Given the description of an element on the screen output the (x, y) to click on. 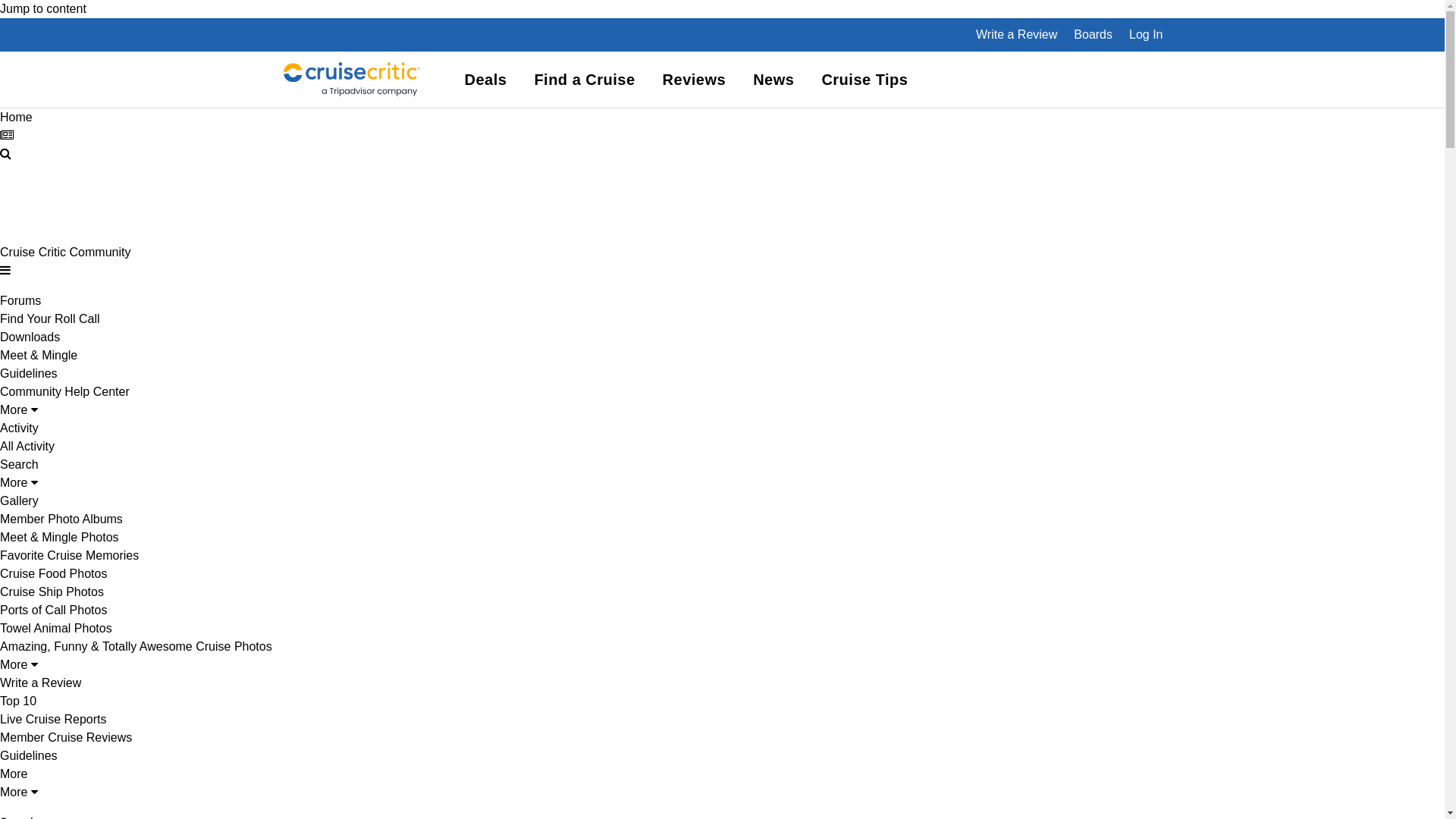
Downloads Element type: text (29, 336)
Meet & Mingle Photos Element type: text (59, 536)
Ports of Call Photos Element type: text (53, 609)
Amazing, Funny & Totally Awesome Cruise Photos Element type: text (136, 646)
Activity Element type: text (19, 427)
More Element type: text (13, 773)
Guidelines Element type: text (28, 755)
Guidelines Element type: text (28, 373)
Reviews Element type: text (694, 79)
Cruise Ship Photos Element type: text (51, 591)
Search Element type: text (19, 464)
More Element type: text (18, 664)
Member Cruise Reviews Element type: text (65, 737)
Top 10 Element type: text (18, 700)
Cruise Food Photos Element type: text (53, 573)
Deals Element type: text (485, 79)
More Element type: text (18, 482)
Jump to content Element type: text (43, 8)
Write a Review Element type: text (1016, 34)
Forums Element type: text (20, 300)
Towel Animal Photos Element type: text (56, 627)
Favorite Cruise Memories Element type: text (69, 555)
News Element type: text (773, 79)
Write a Review Element type: text (40, 682)
All Activity Element type: text (27, 445)
Meet & Mingle Element type: text (38, 354)
Cruise Tips Element type: text (864, 79)
Gallery Element type: text (19, 500)
Find a Cruise Element type: text (584, 79)
Find Your Roll Call Element type: text (50, 318)
Live Cruise Reports Element type: text (53, 718)
Log In Element type: text (1145, 34)
Community Help Center Element type: text (64, 391)
Home Element type: text (16, 116)
More Element type: text (18, 791)
Member Photo Albums Element type: text (61, 518)
Boards Element type: text (1092, 34)
Cruise Critic Community Element type: text (65, 251)
More Element type: text (18, 409)
